Given the description of an element on the screen output the (x, y) to click on. 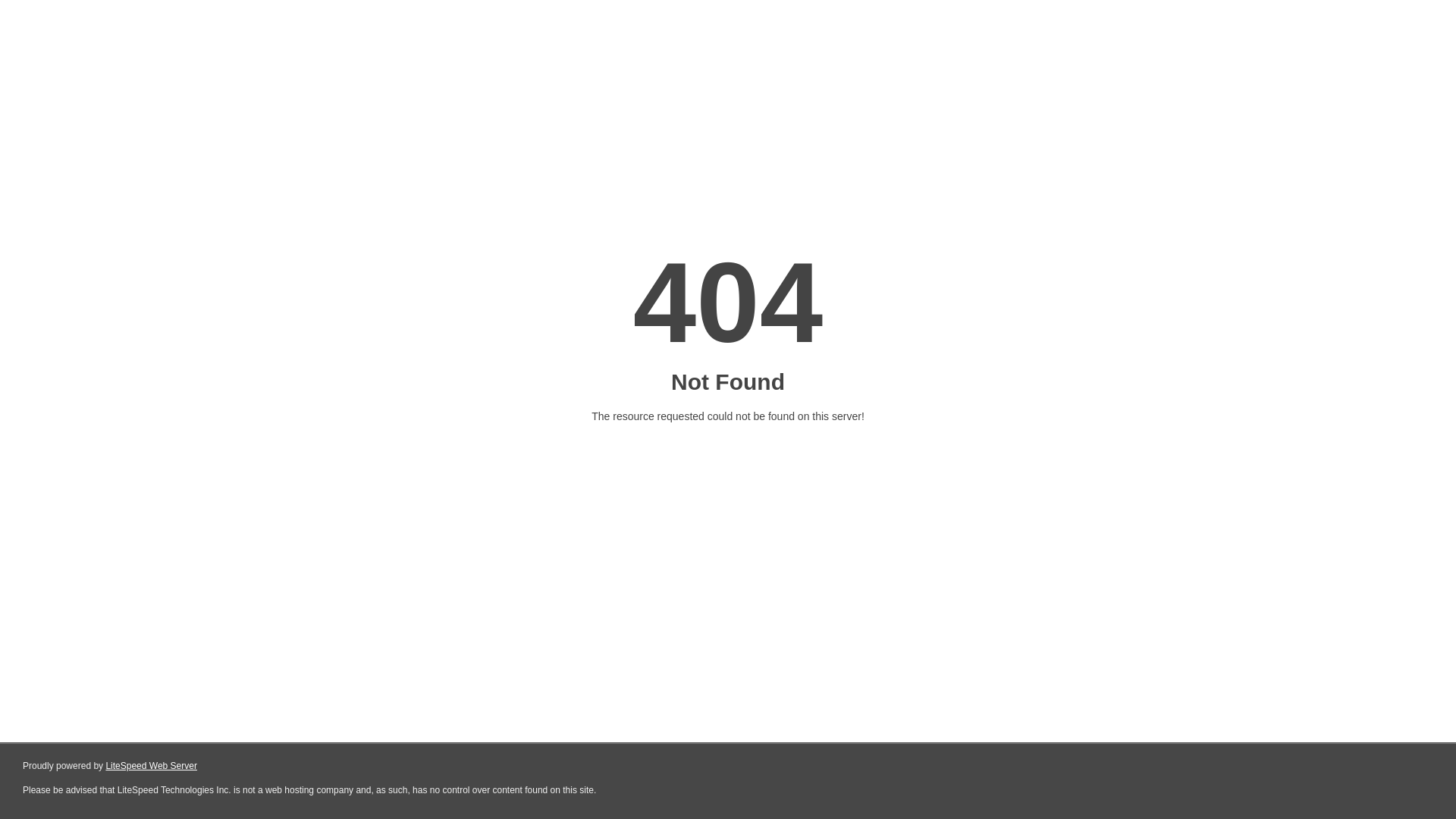
LiteSpeed Web Server Element type: text (151, 765)
